Given the description of an element on the screen output the (x, y) to click on. 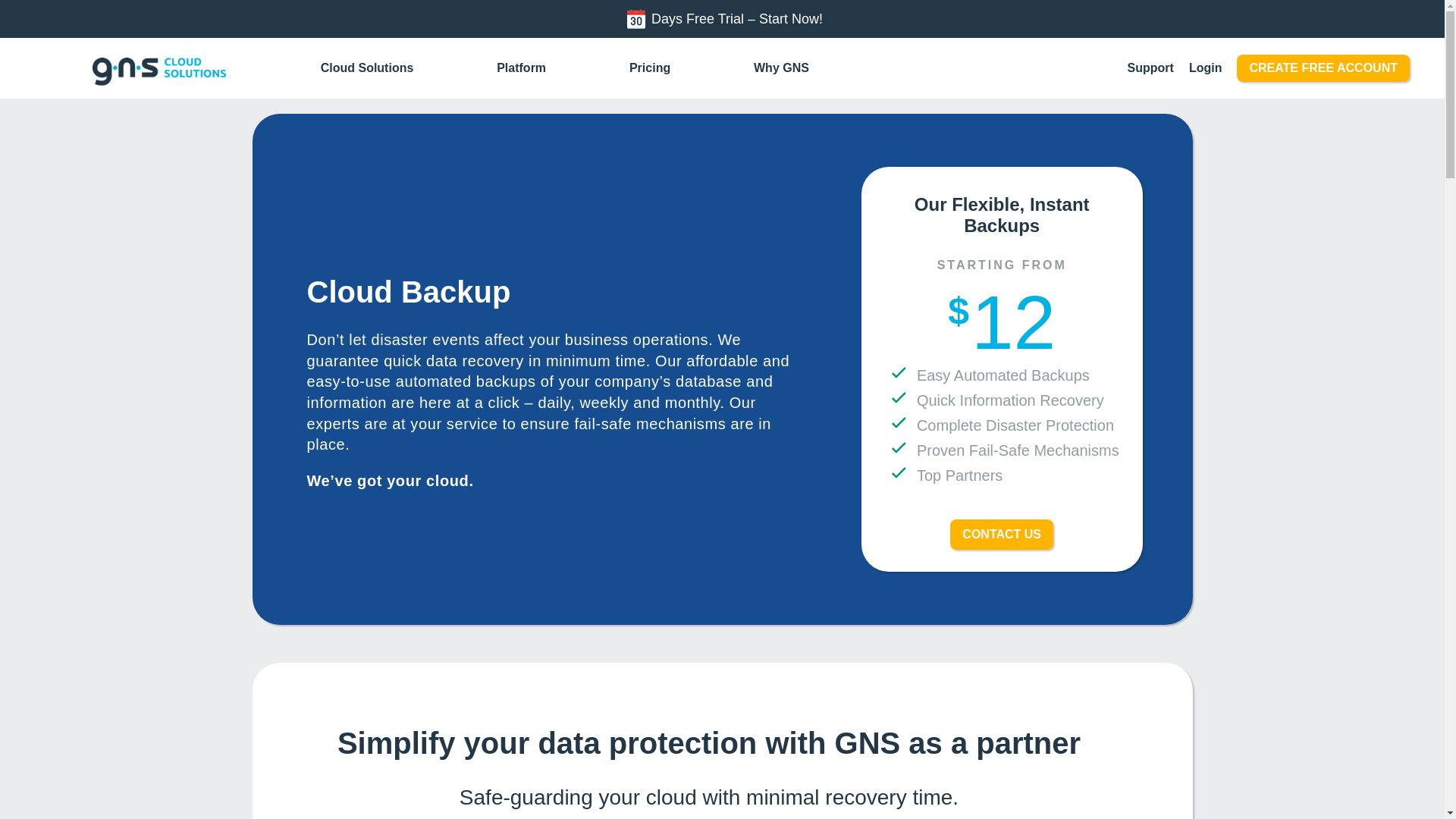
Pricing (648, 67)
Why GNS (781, 67)
Support (1149, 67)
Platform (521, 67)
Cloud Solutions (366, 67)
Login (1206, 67)
